Given the description of an element on the screen output the (x, y) to click on. 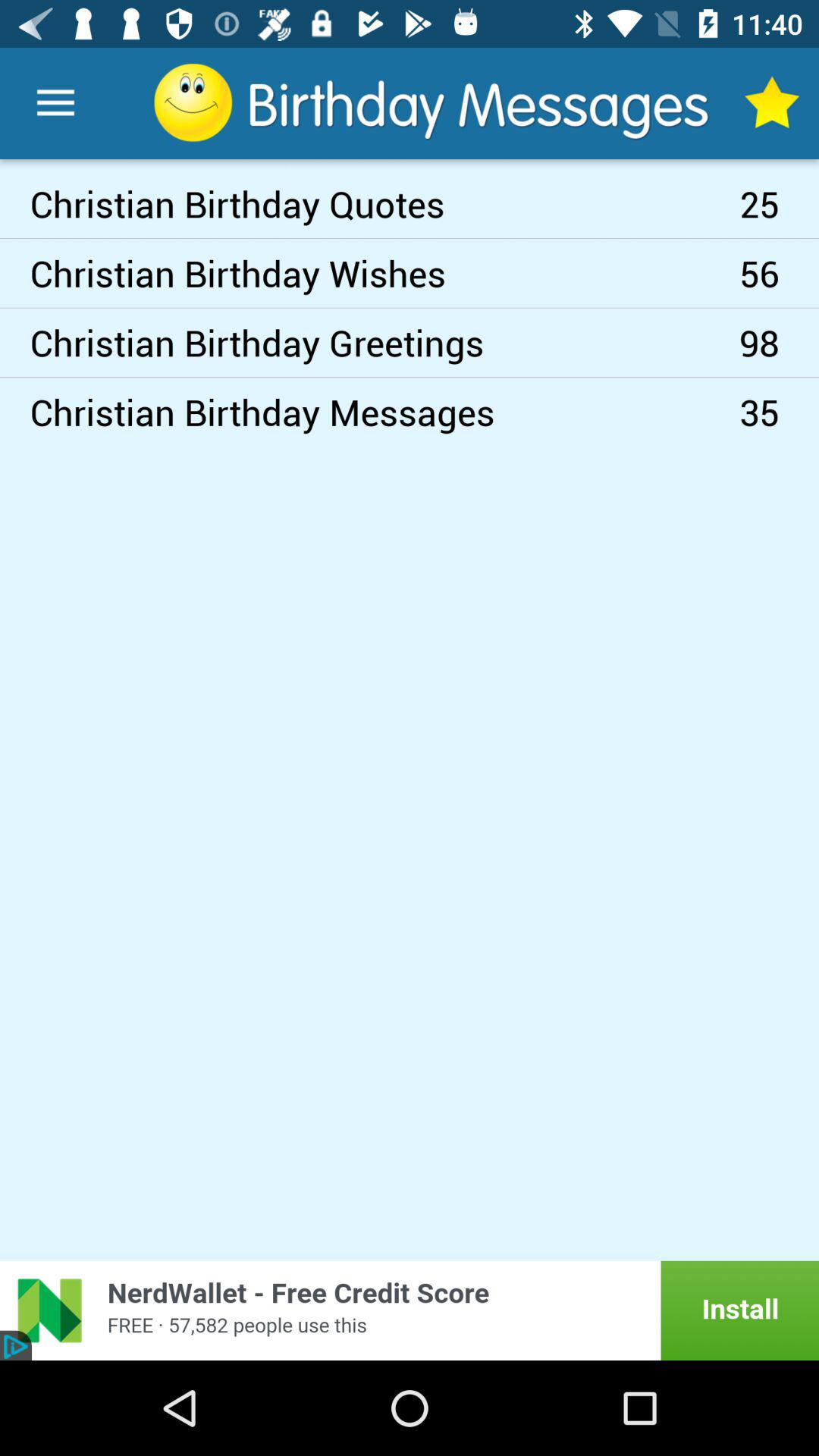
open the icon to the right of christian birthday messages icon (779, 342)
